Given the description of an element on the screen output the (x, y) to click on. 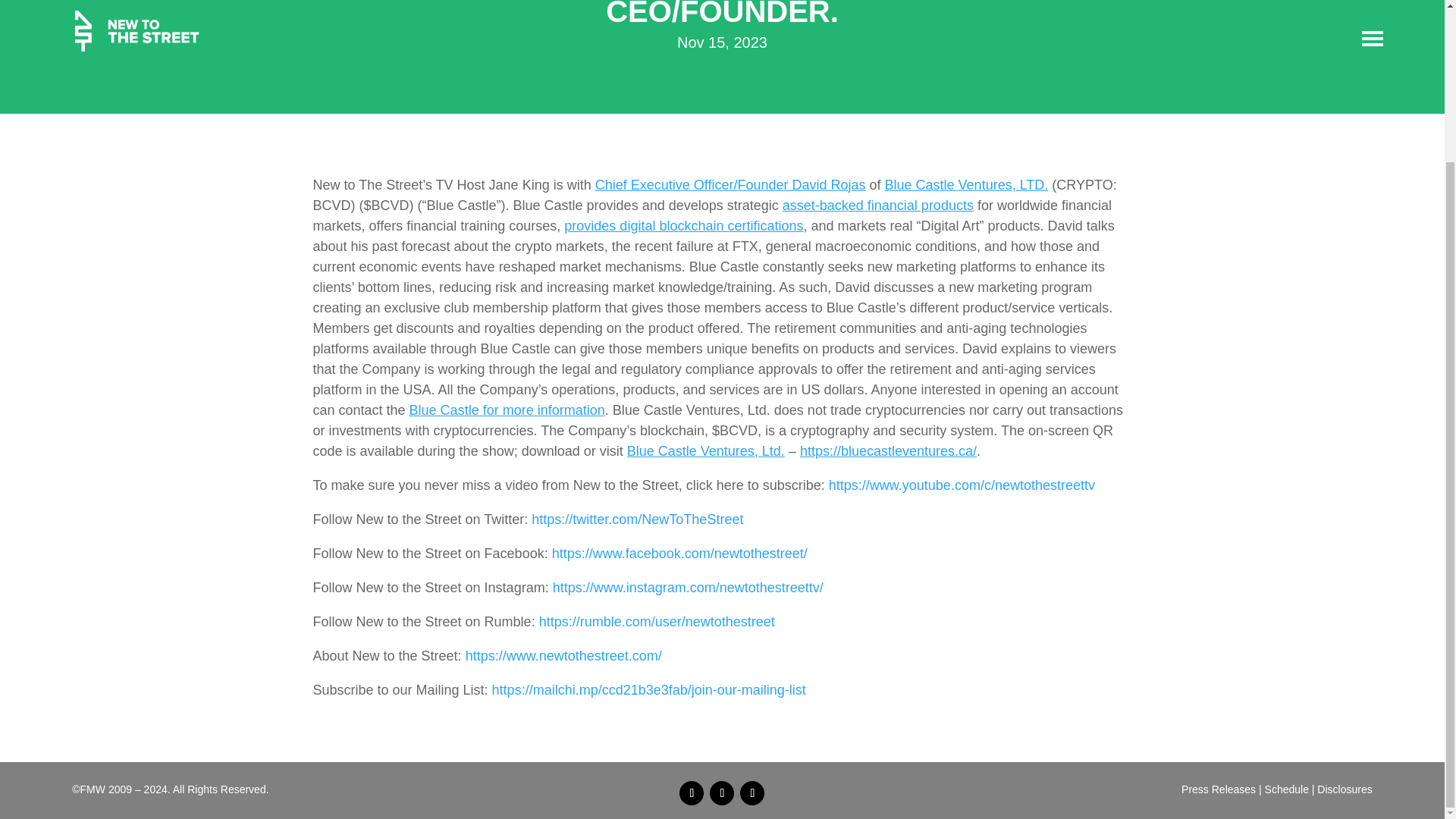
Blue Castle Ventures, LTD. (966, 184)
asset-backed financial products (878, 205)
Follow on Facebook (691, 793)
Blue Castle for more information (507, 409)
provides digital blockchain certifications (683, 225)
Follow on Youtube (751, 793)
Follow on X (721, 793)
Disclosures (1344, 788)
Press Releases (1217, 788)
Blue Castle Ventures, Ltd. (705, 450)
